Given the description of an element on the screen output the (x, y) to click on. 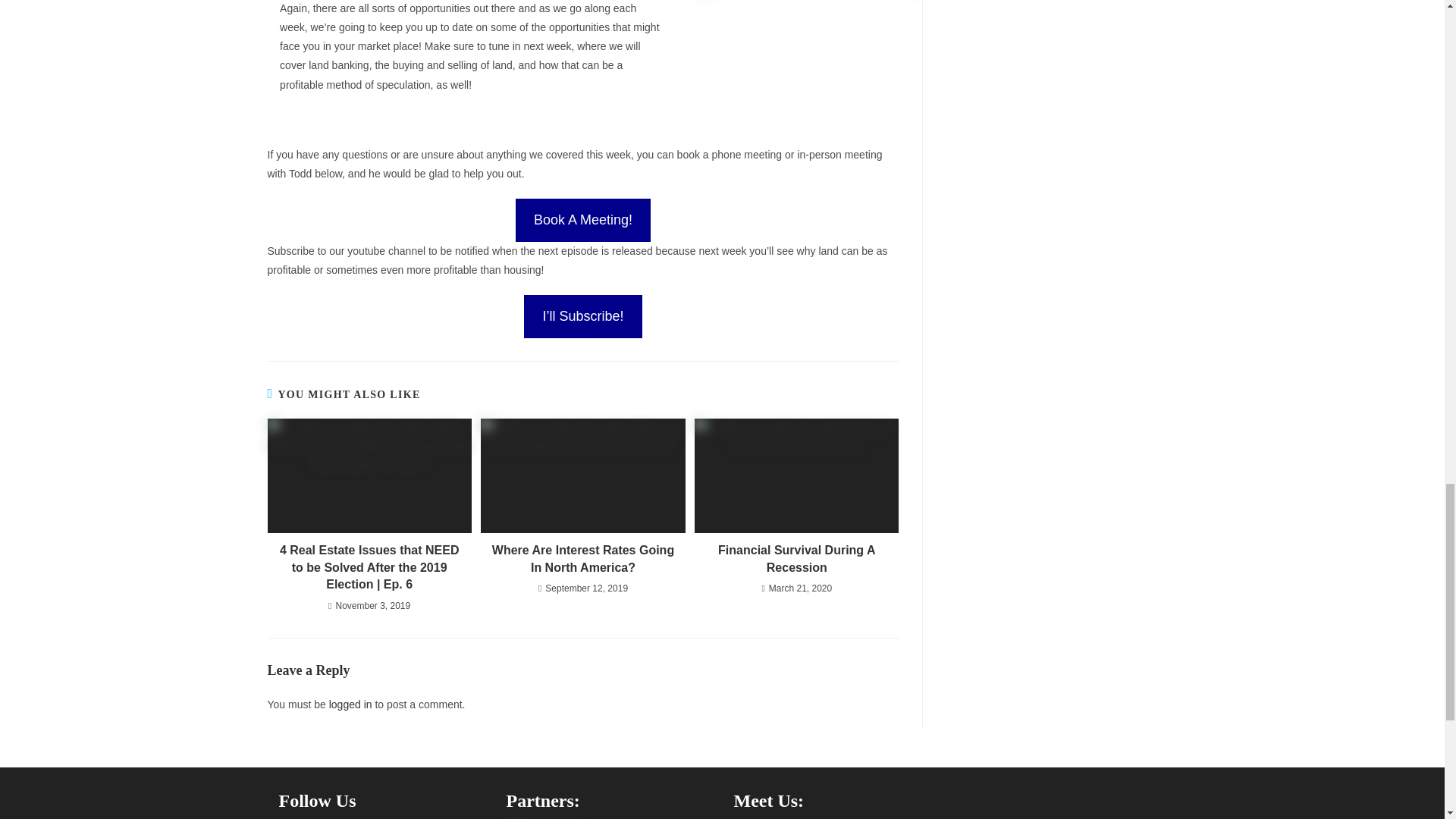
Where Are Interest Rates Going In North America? (582, 559)
Financial Survival During A Recession (796, 559)
logged in (350, 704)
Book A Meeting! (582, 219)
